Given the description of an element on the screen output the (x, y) to click on. 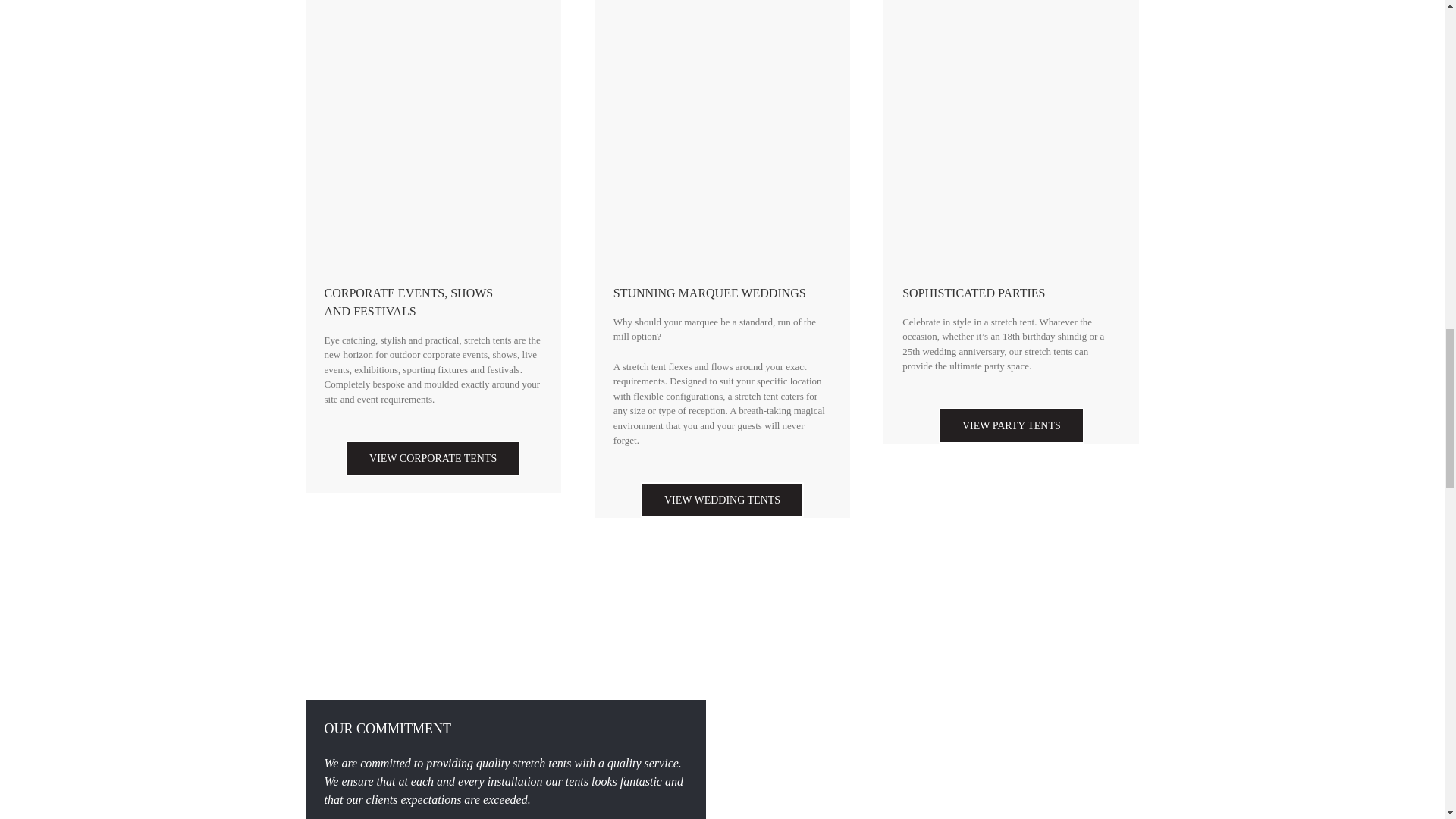
Wedding-SQ (1010, 3)
VIEW WEDDING TENTS (721, 499)
VIEW CORPORATE TENTS (432, 457)
